Given the description of an element on the screen output the (x, y) to click on. 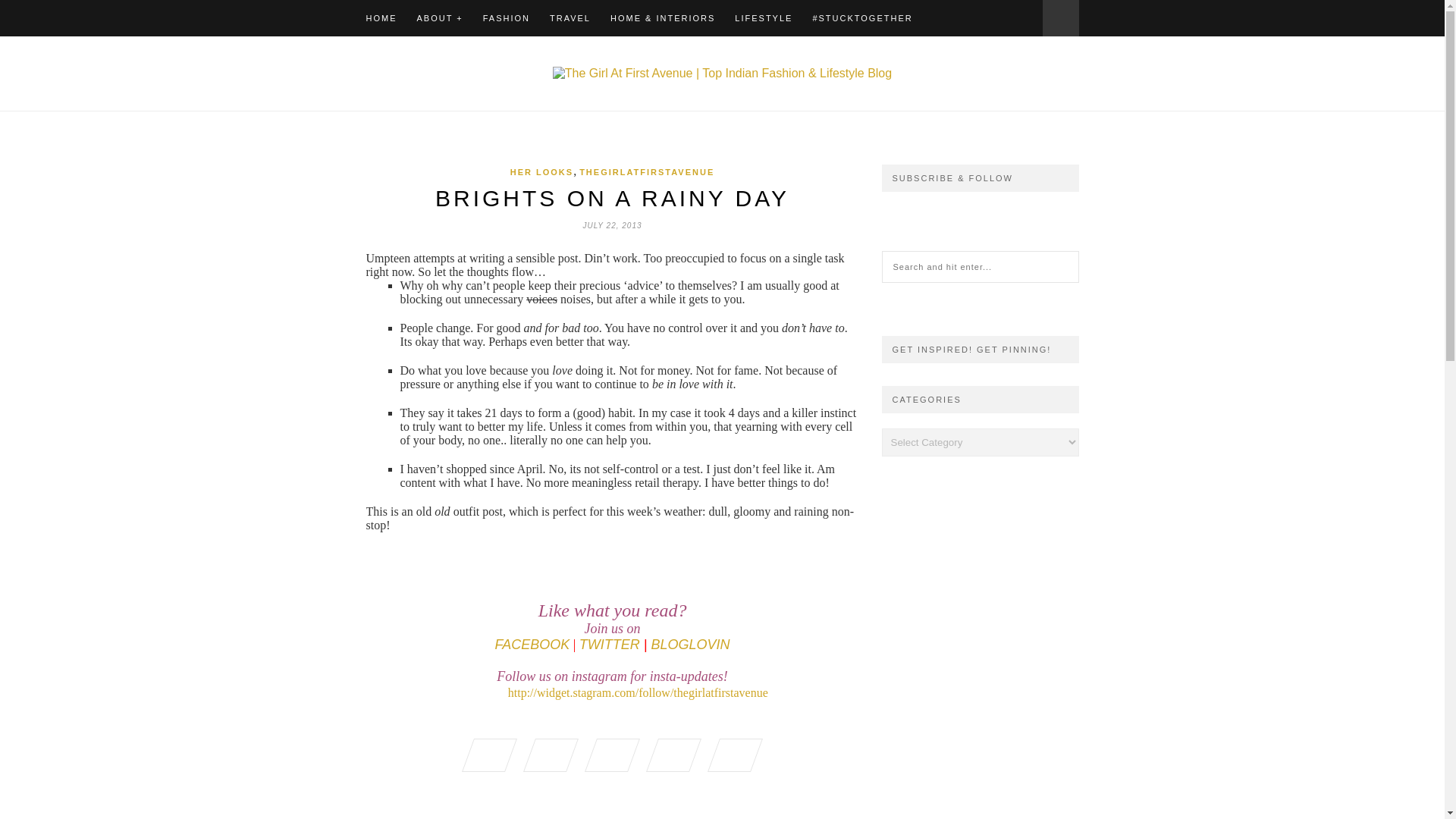
BLOGLOVIN (689, 646)
HER LOOKS (542, 171)
TWITTER (609, 646)
FACEBOOK (532, 646)
TRAVEL (570, 18)
View all posts in TheGirlAtFirstAvenue (646, 171)
FASHION (506, 18)
LIFESTYLE (763, 18)
View all posts in Her Looks (542, 171)
THEGIRLATFIRSTAVENUE (646, 171)
